Given the description of an element on the screen output the (x, y) to click on. 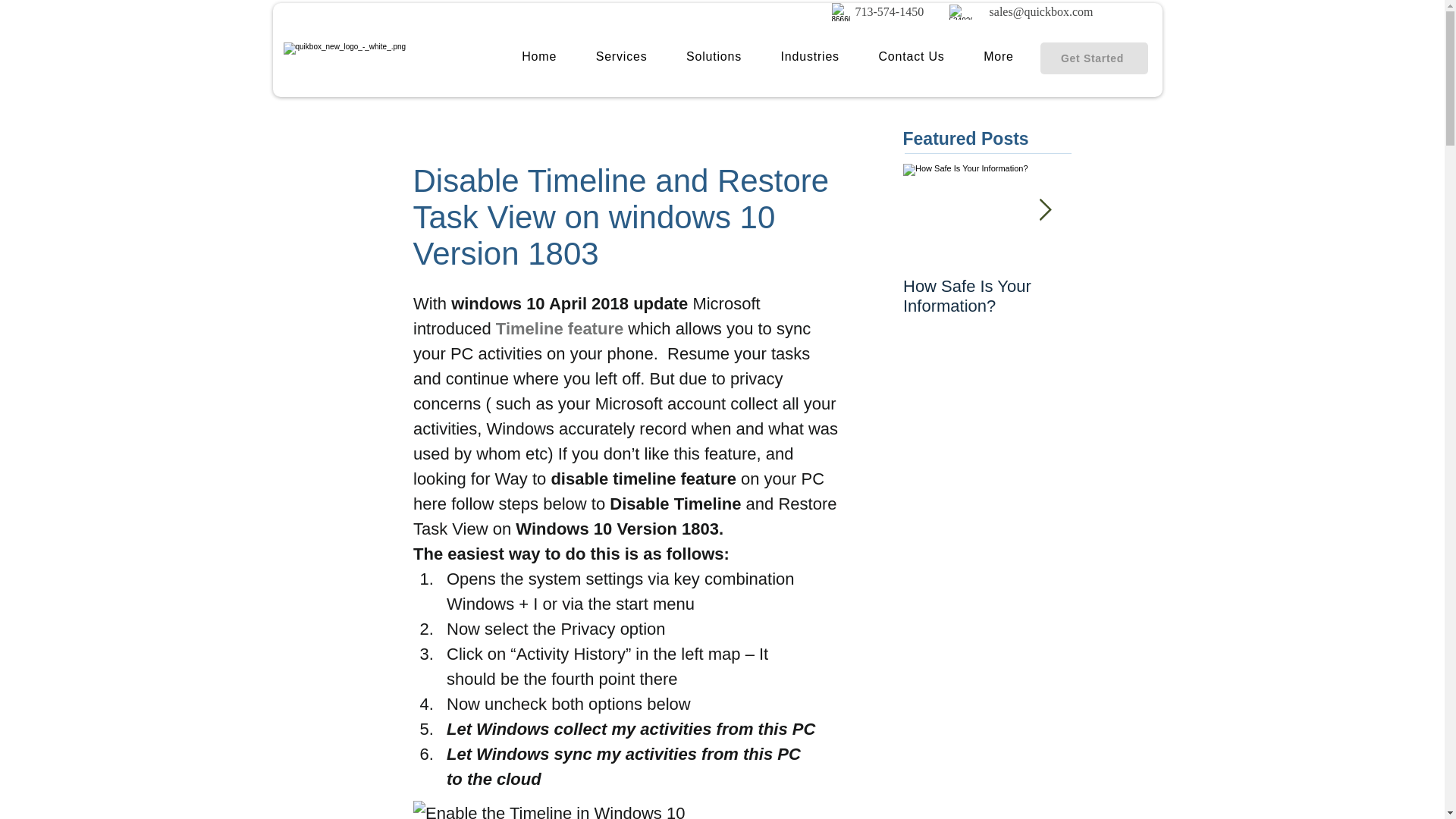
QuikBox 3.x is Ready to Launch (1152, 296)
How Safe Is Your Information? (985, 296)
Solutions (713, 56)
Industries (810, 56)
Timeline feature (559, 328)
Get Started (1094, 58)
Home (538, 56)
